Given the description of an element on the screen output the (x, y) to click on. 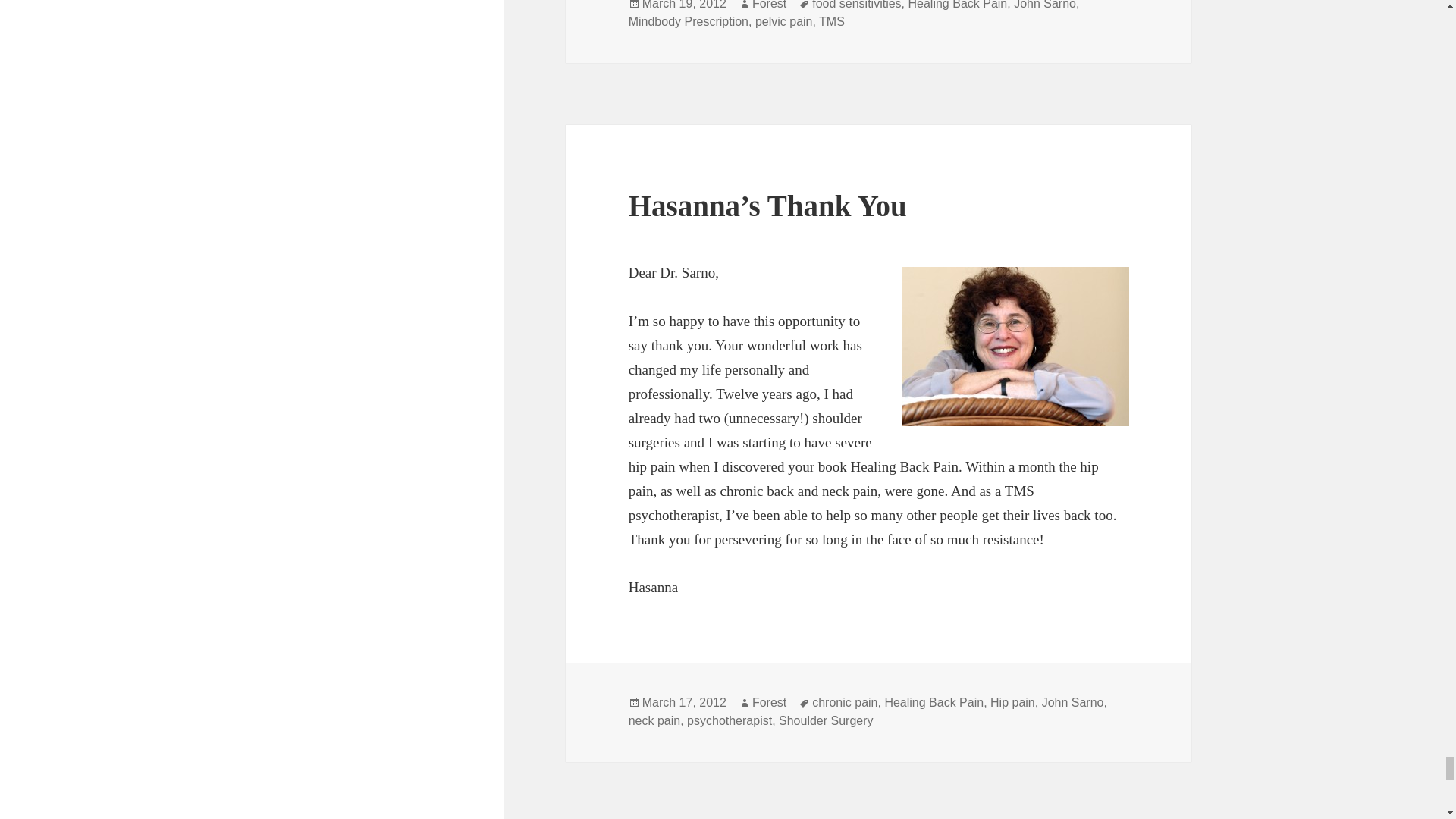
Hasanna Fletcher (1015, 345)
